Given the description of an element on the screen output the (x, y) to click on. 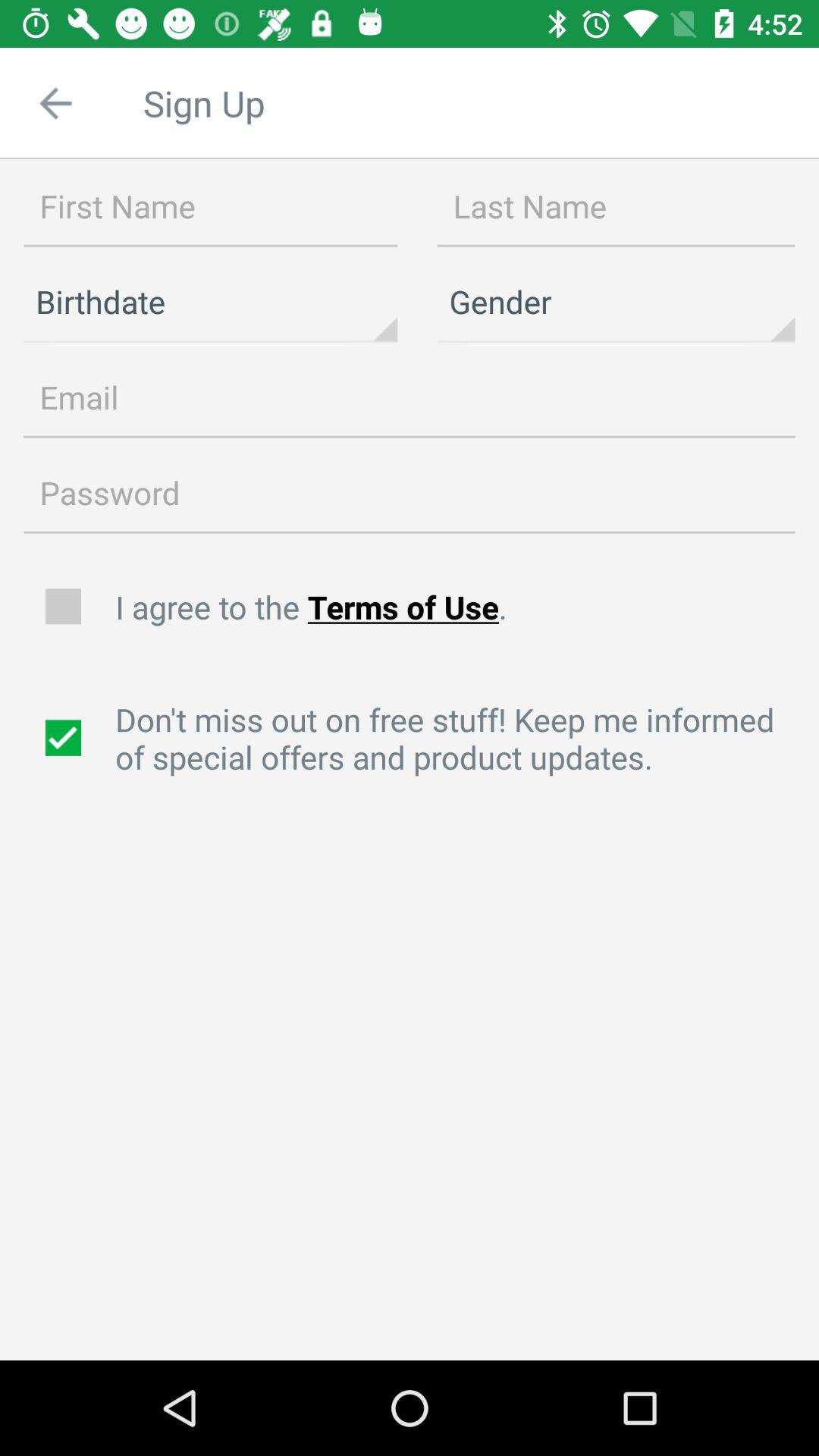
swipe until the birthdate (210, 302)
